Given the description of an element on the screen output the (x, y) to click on. 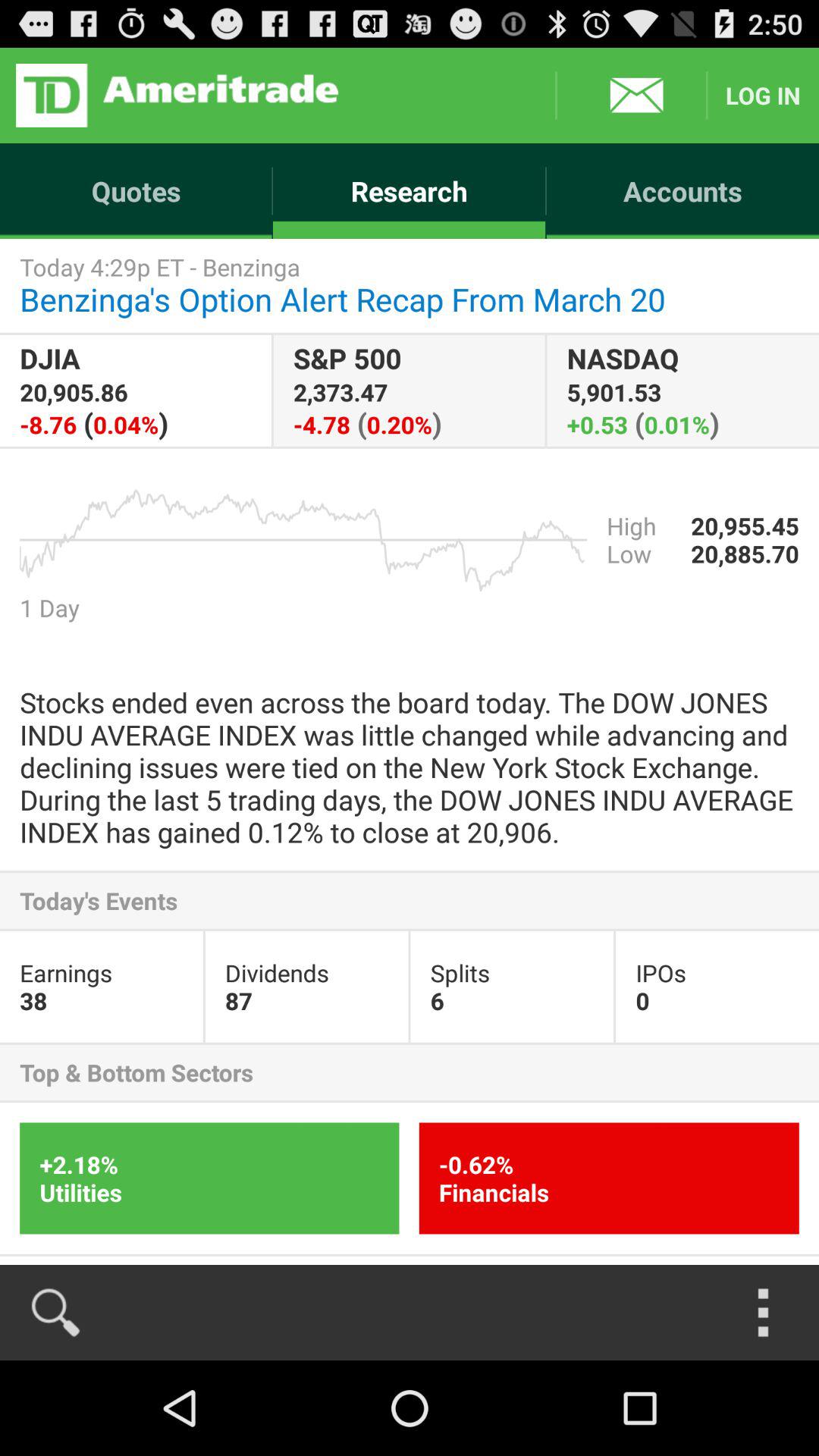
turn on log in item (763, 95)
